Given the description of an element on the screen output the (x, y) to click on. 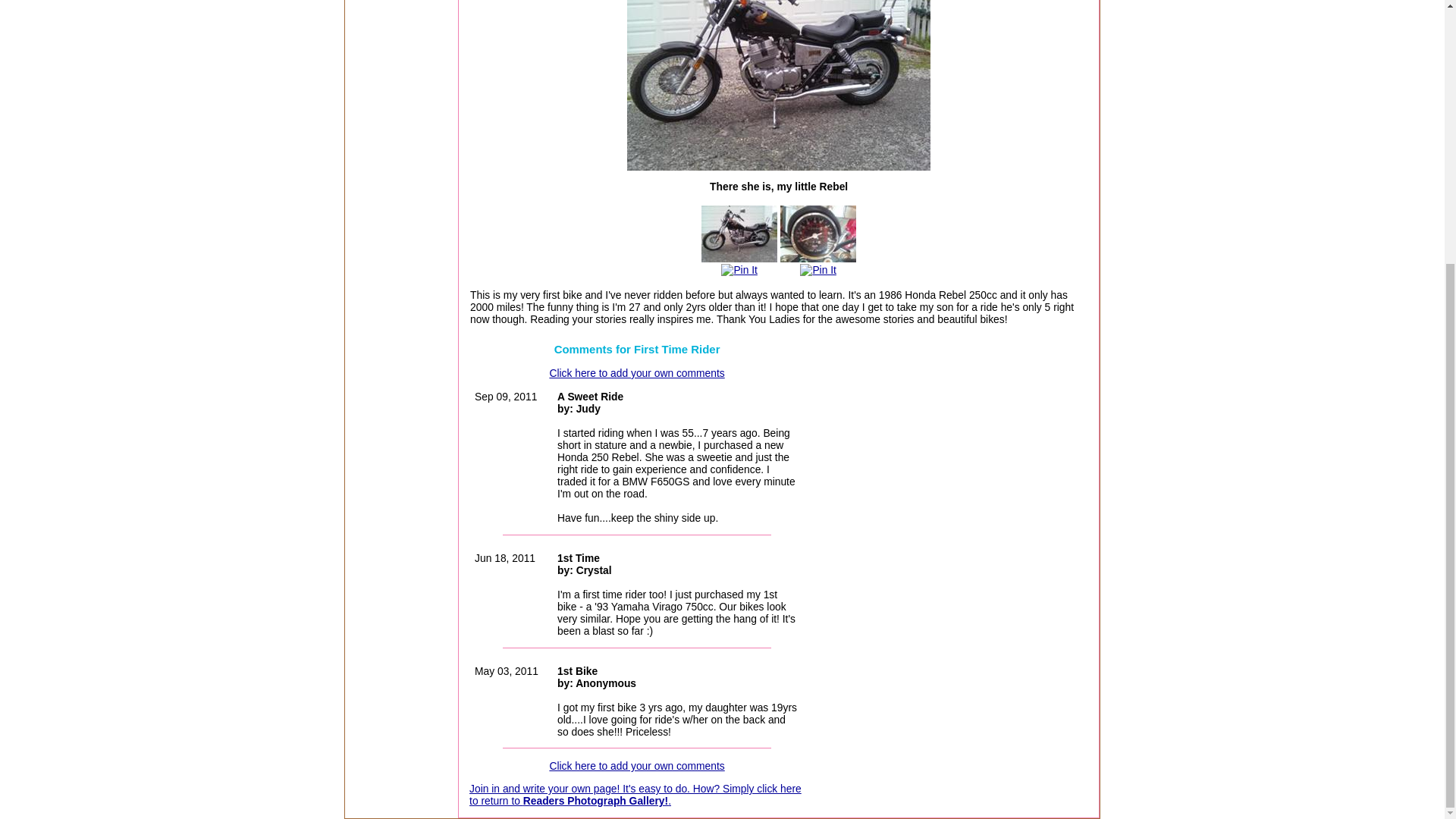
There she is, my little Rebel (778, 85)
Click here to add your own comments (635, 766)
Here's the Proof! (818, 233)
Pin It (817, 269)
Pin It (738, 269)
Click here to add your own comments (635, 372)
There she is, my little Rebel (739, 233)
